Given the description of an element on the screen output the (x, y) to click on. 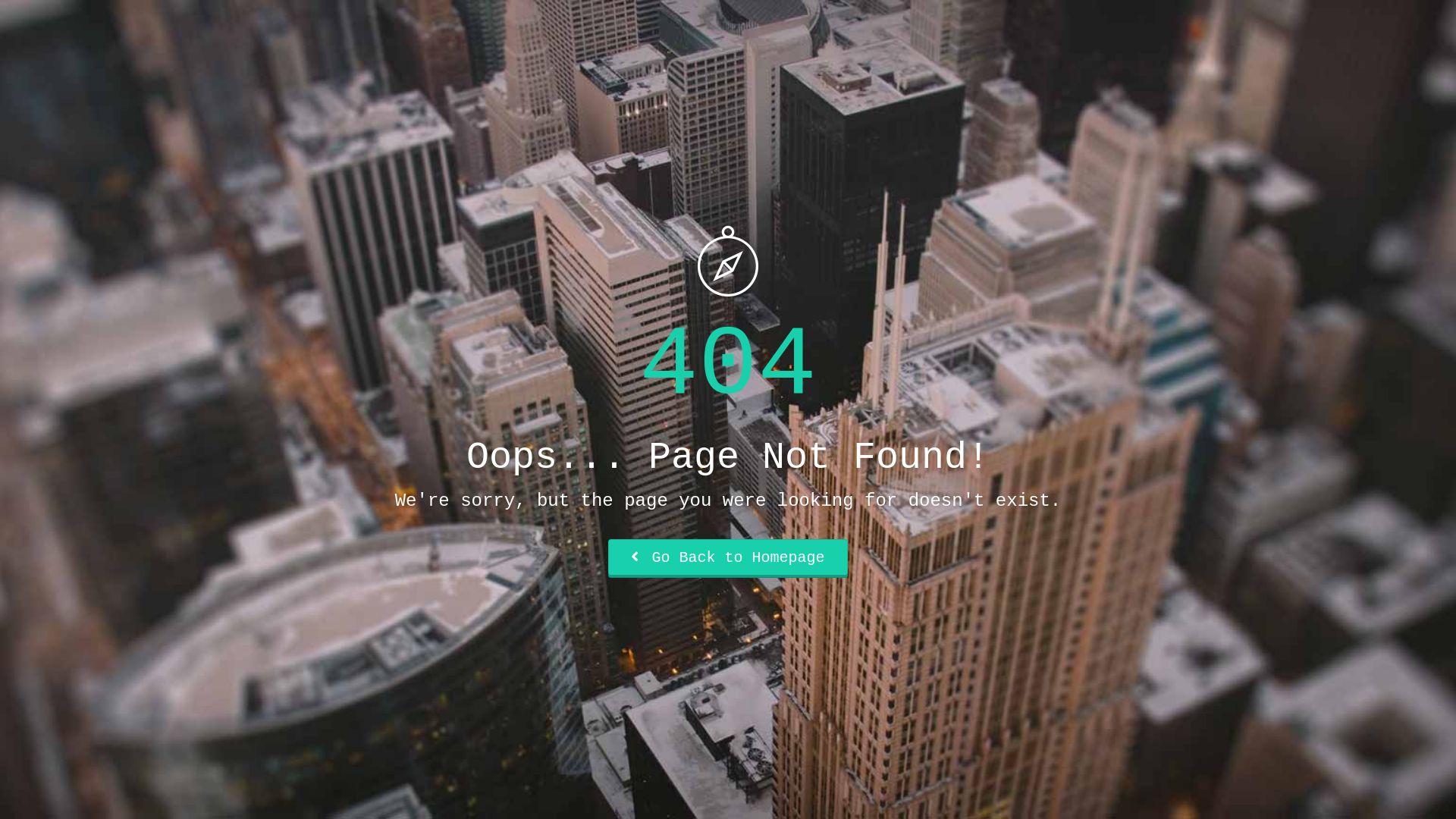
Go Back to Homepage Element type: text (727, 558)
